Given the description of an element on the screen output the (x, y) to click on. 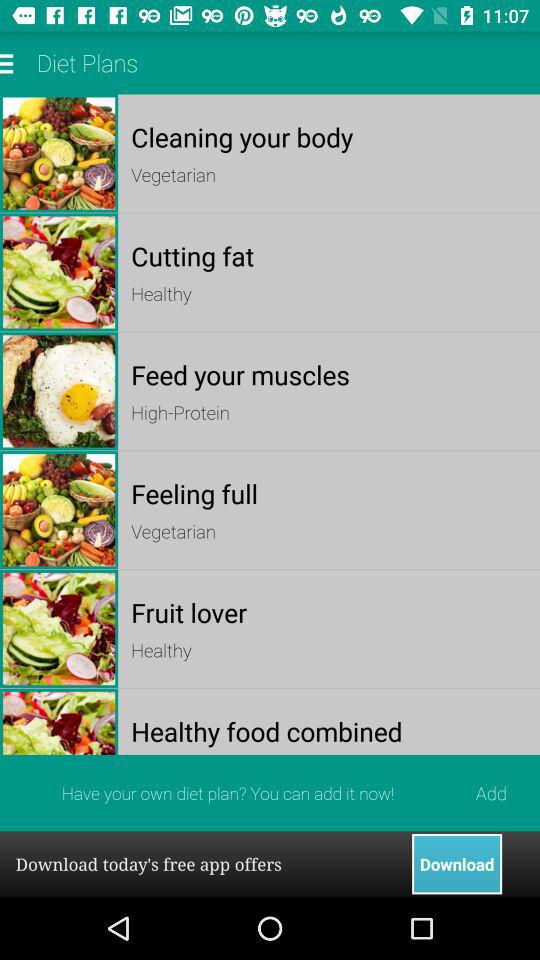
scroll until healthy food combined app (328, 730)
